Given the description of an element on the screen output the (x, y) to click on. 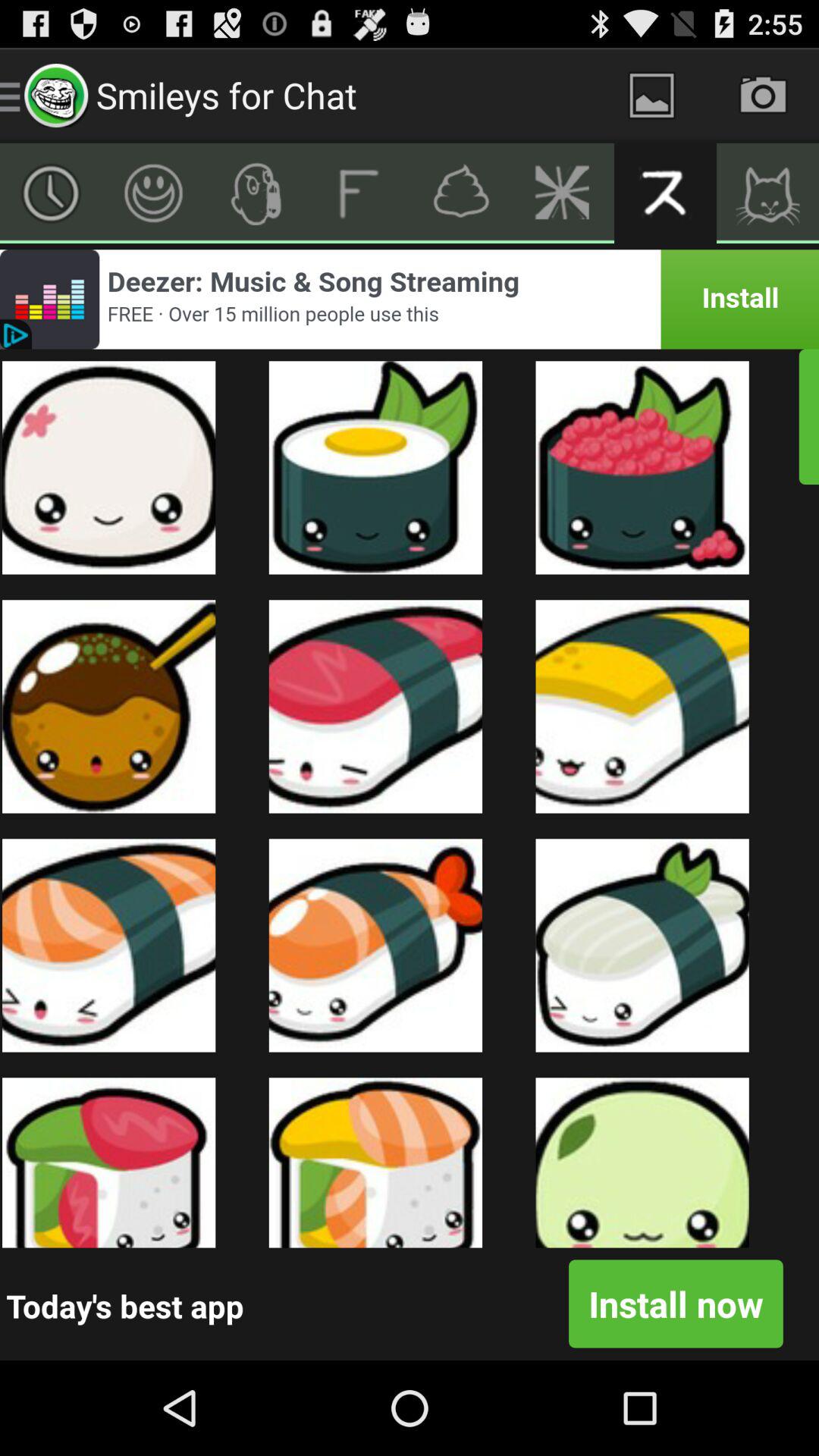
install the option (409, 299)
